Given the description of an element on the screen output the (x, y) to click on. 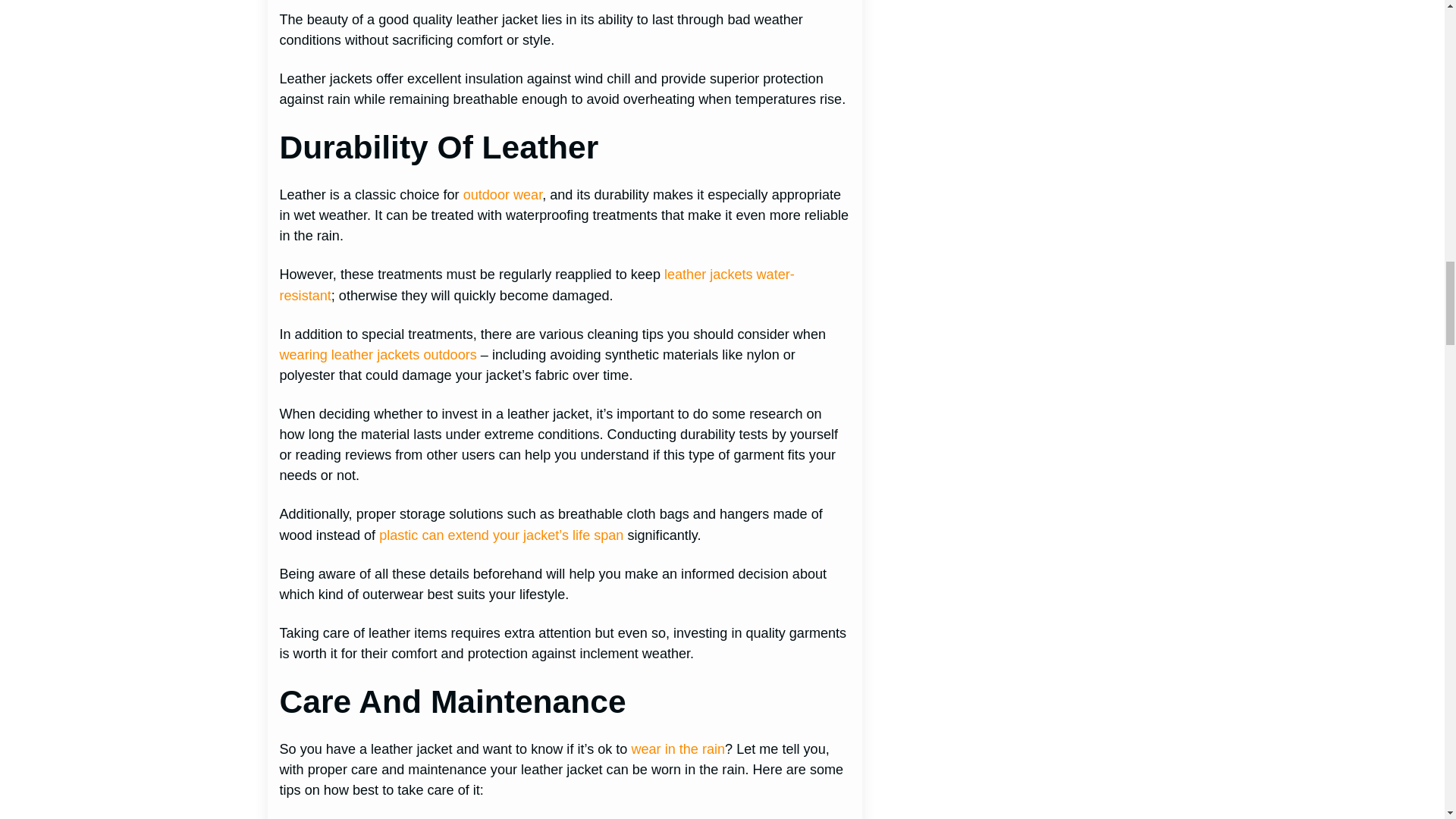
wearing leather jackets outdoors (377, 354)
outdoor wear (503, 194)
leather jackets water-resistant (536, 284)
wear in the rain (677, 749)
